Given the description of an element on the screen output the (x, y) to click on. 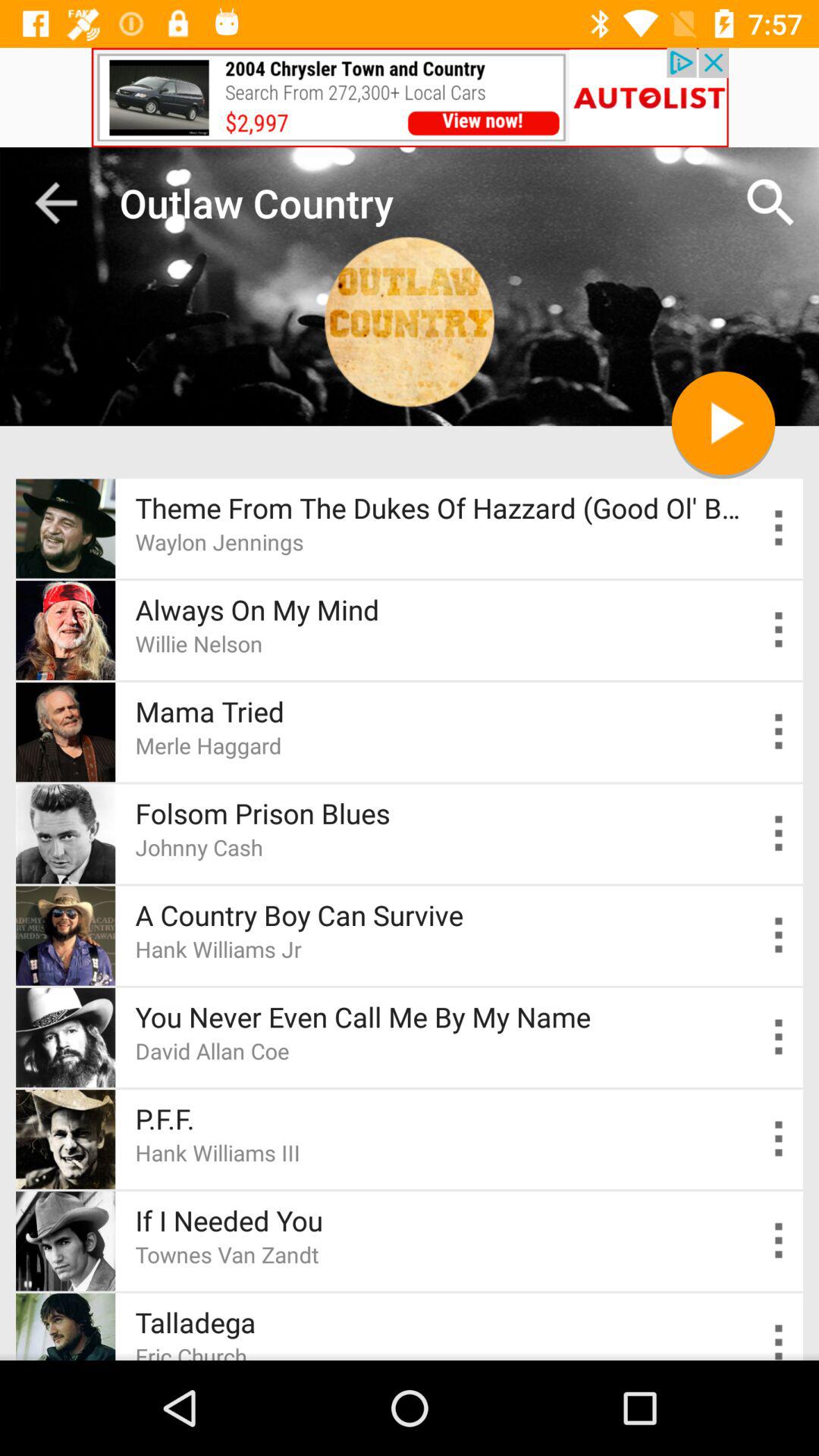
next (723, 422)
